Given the description of an element on the screen output the (x, y) to click on. 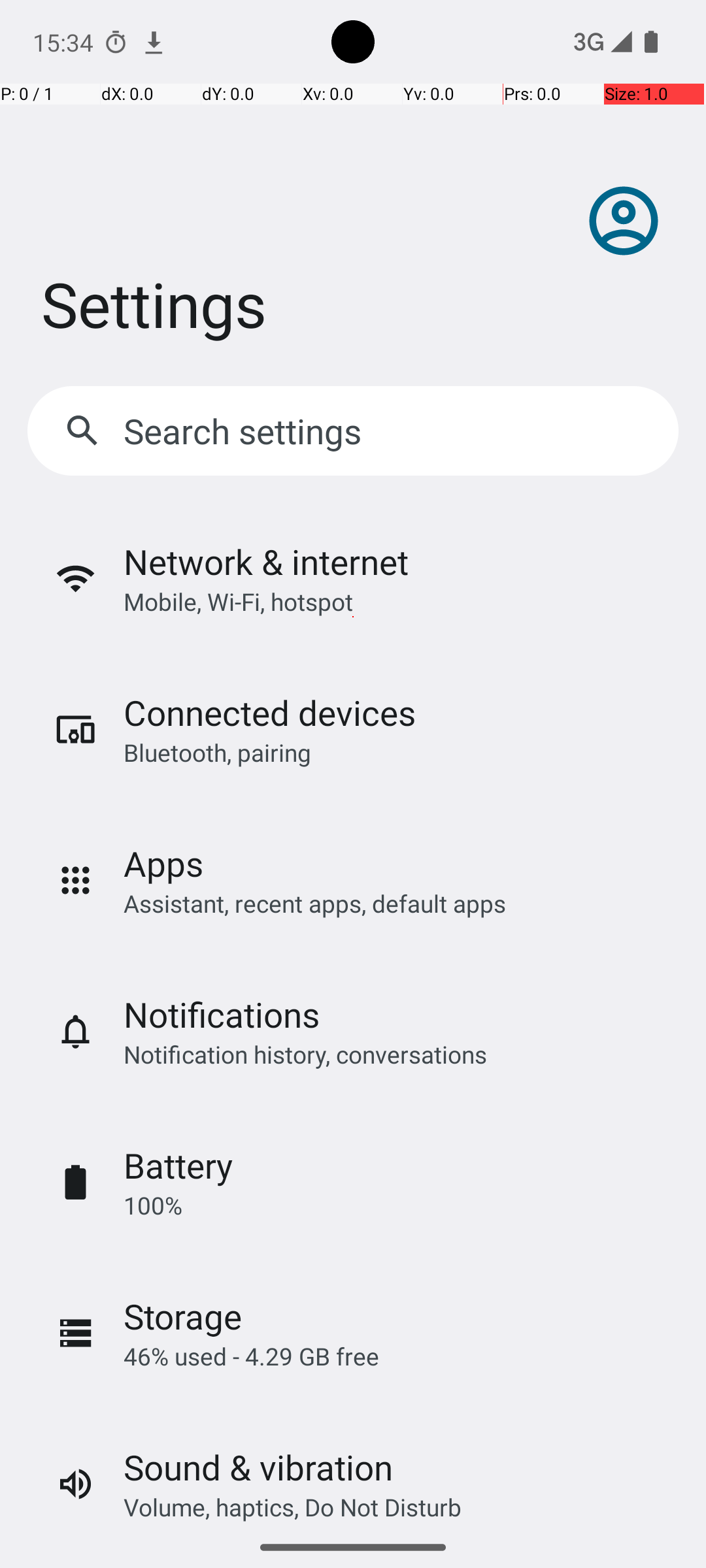
46% used - 4.29 GB free Element type: android.widget.TextView (251, 1355)
